Given the description of an element on the screen output the (x, y) to click on. 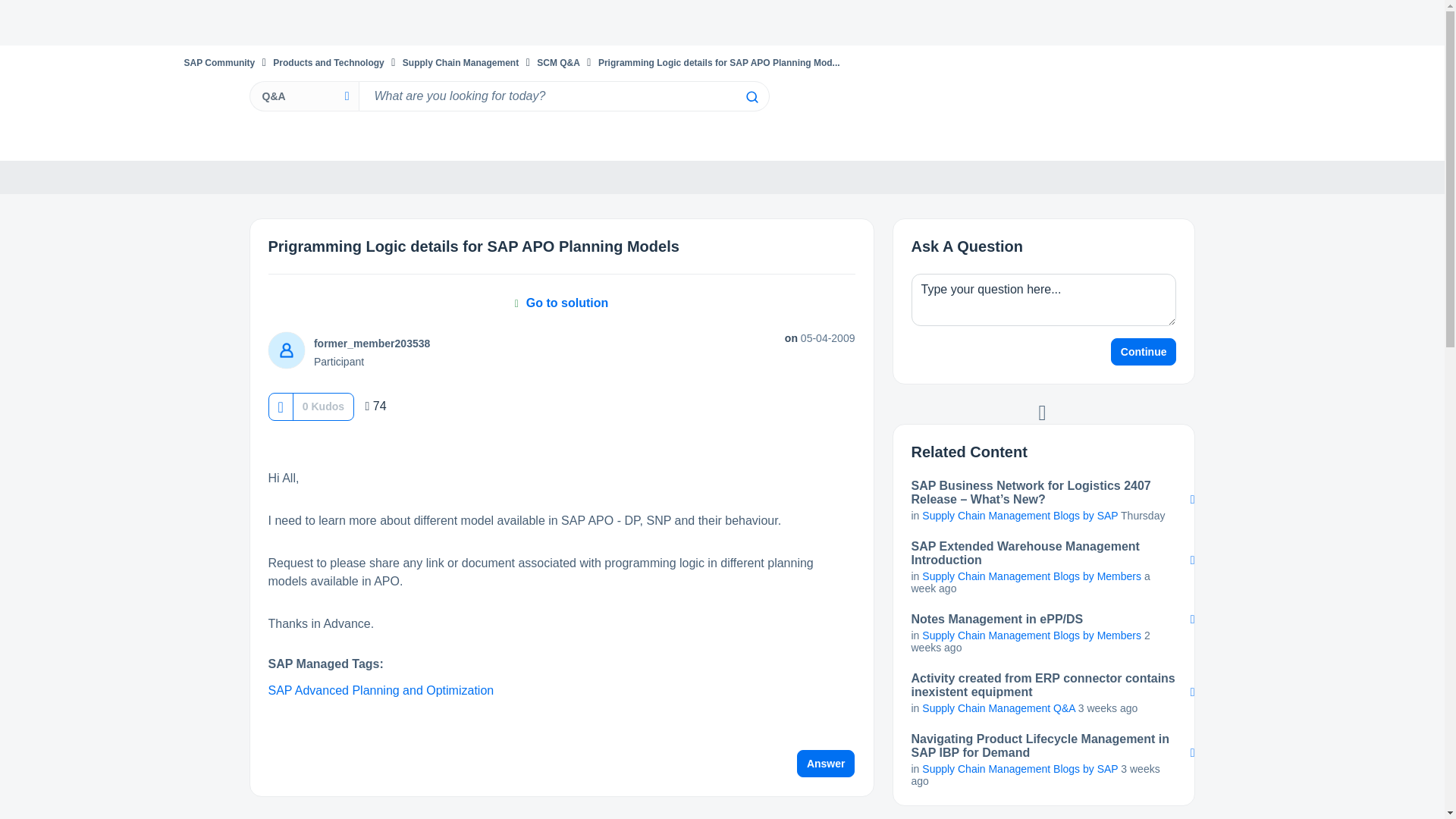
Go to solution (561, 302)
Click here to give kudos to this post. (279, 406)
Search (563, 96)
Search (750, 96)
Search Granularity (303, 96)
Search (750, 96)
Continue (1143, 351)
SAP Community (218, 62)
Products and Technology (328, 62)
Search (750, 96)
Supply Chain Management (460, 62)
Answer (826, 763)
The total number of kudos this post has received. (323, 406)
SAP Advanced Planning and Optimization (381, 689)
